Given the description of an element on the screen output the (x, y) to click on. 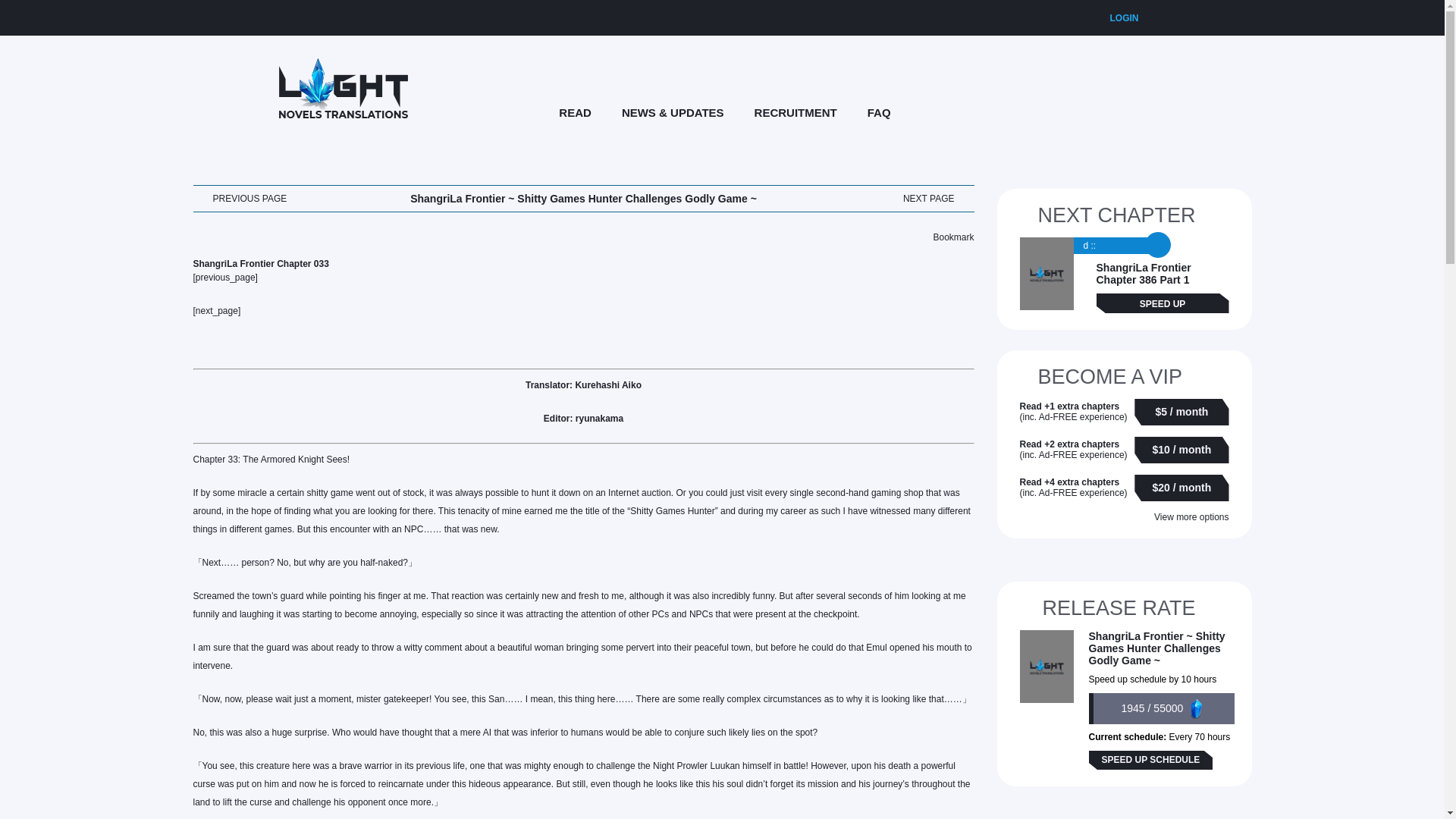
RECRUITMENT (795, 112)
0 (1155, 16)
READ (575, 112)
Search (1117, 111)
View mode (1148, 109)
LOGIN (1123, 17)
Vip (1085, 111)
FAQ (878, 112)
Light Novels Translations (343, 87)
